Given the description of an element on the screen output the (x, y) to click on. 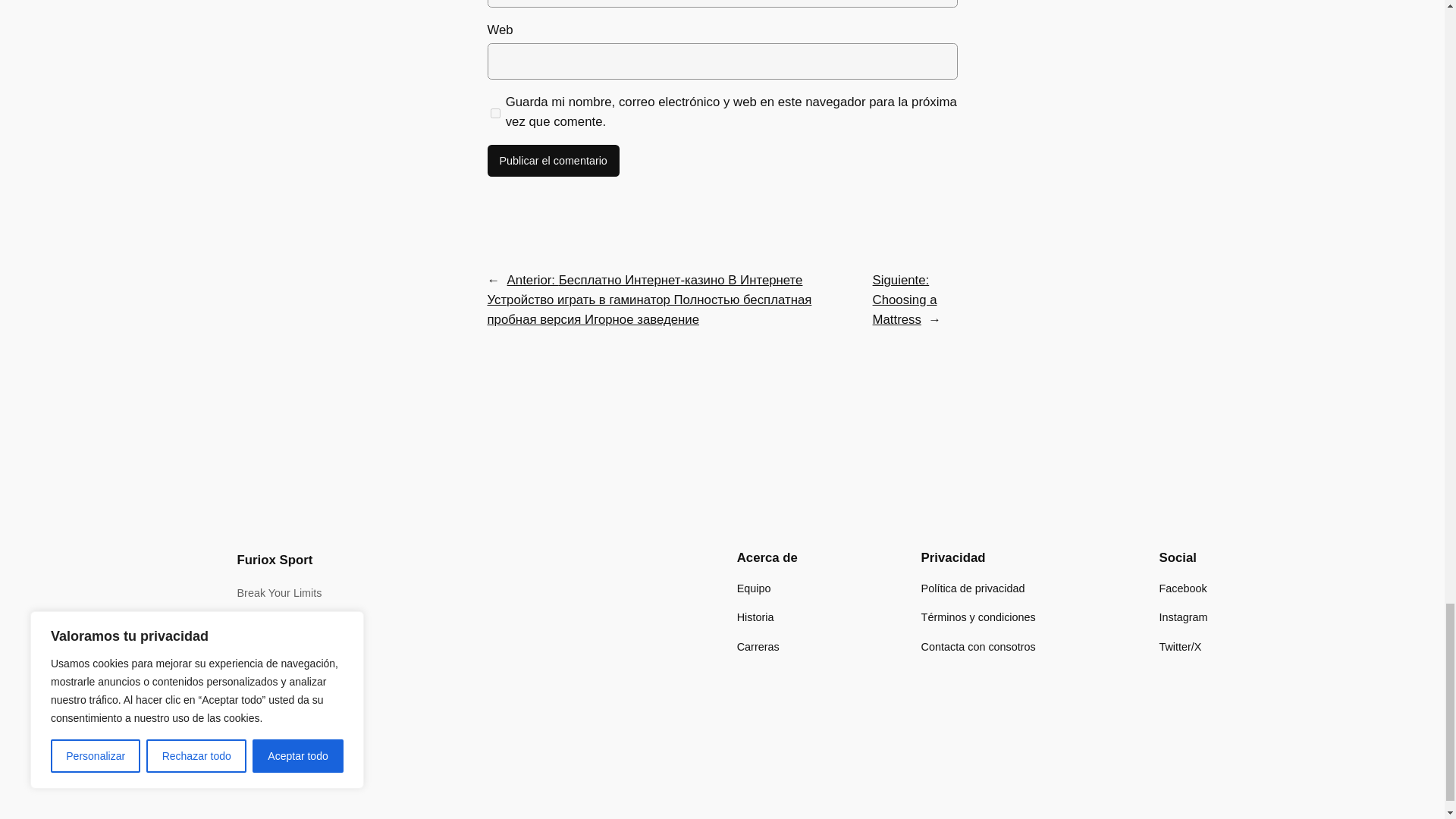
Publicar el comentario (552, 160)
